Given the description of an element on the screen output the (x, y) to click on. 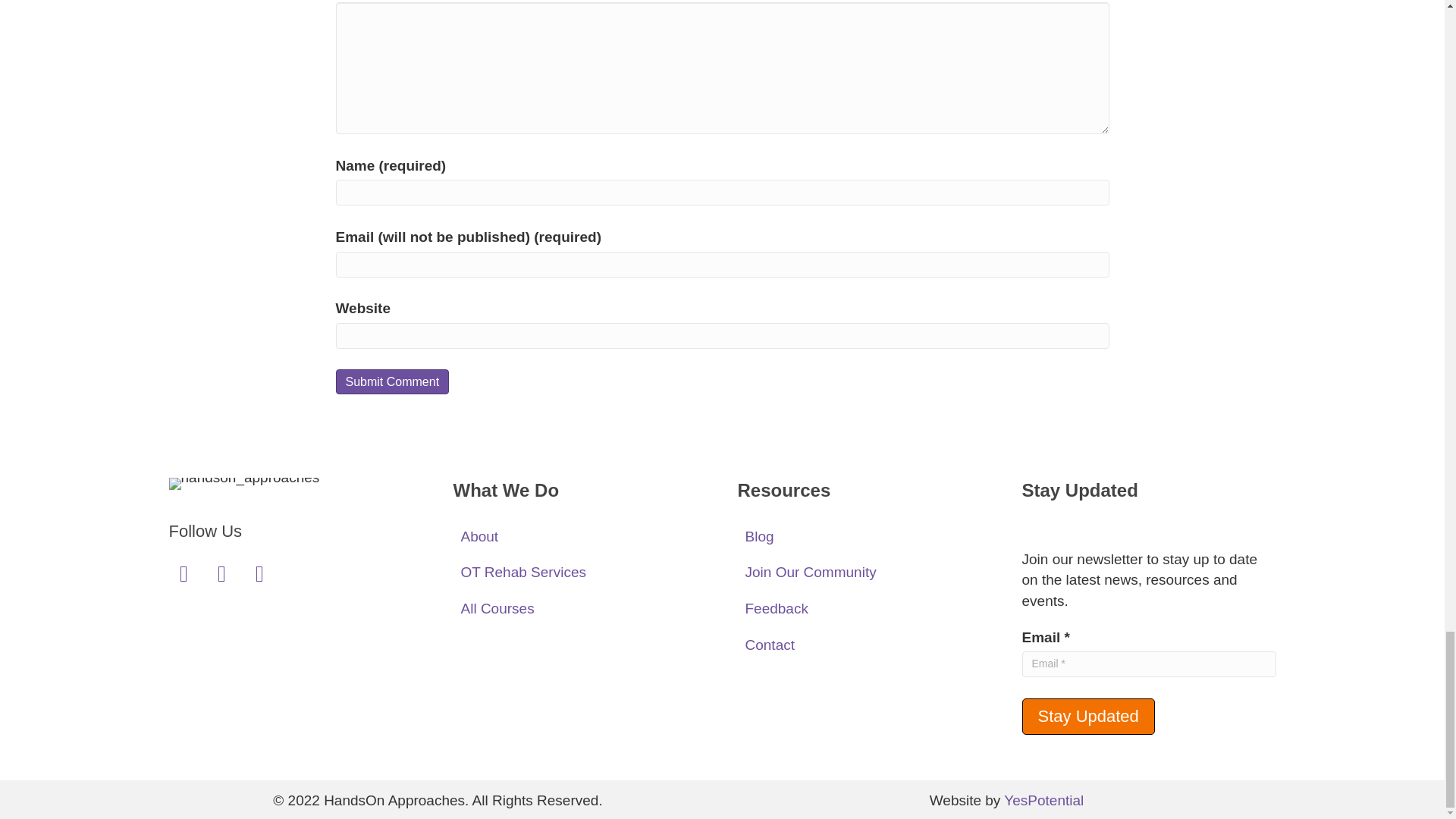
Instagram (183, 573)
LinkedIn (220, 573)
Follow Us (204, 530)
Facebook (259, 573)
Submit Comment (391, 381)
Submit Comment (391, 381)
Follow Us (204, 530)
